Given the description of an element on the screen output the (x, y) to click on. 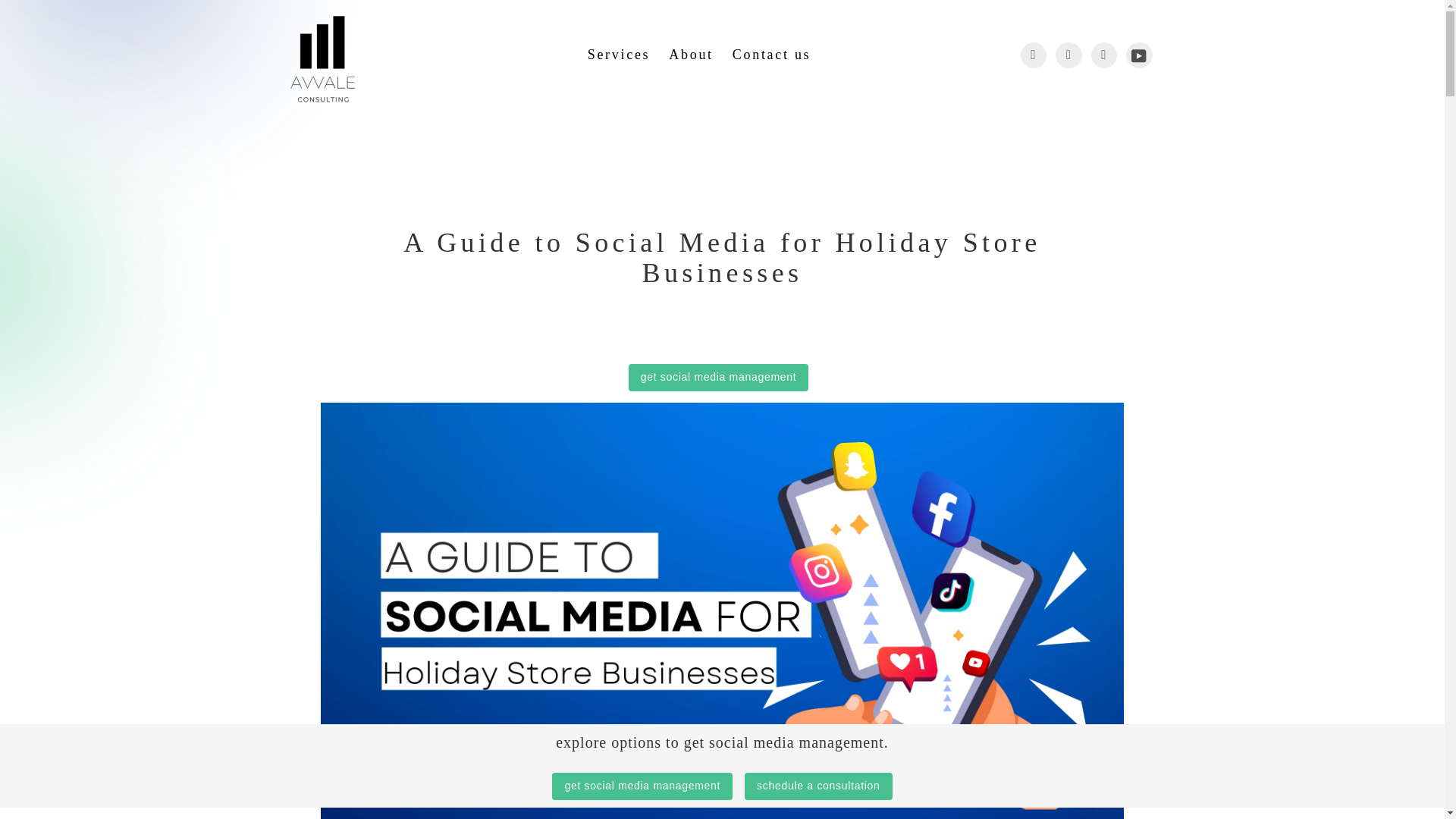
AVVALE on LinkedIn (1103, 55)
AVVALE on Instagram (1068, 55)
AVVALE on Facebook (1033, 55)
AVVALE on YouTube (1139, 55)
Services (623, 55)
